Given the description of an element on the screen output the (x, y) to click on. 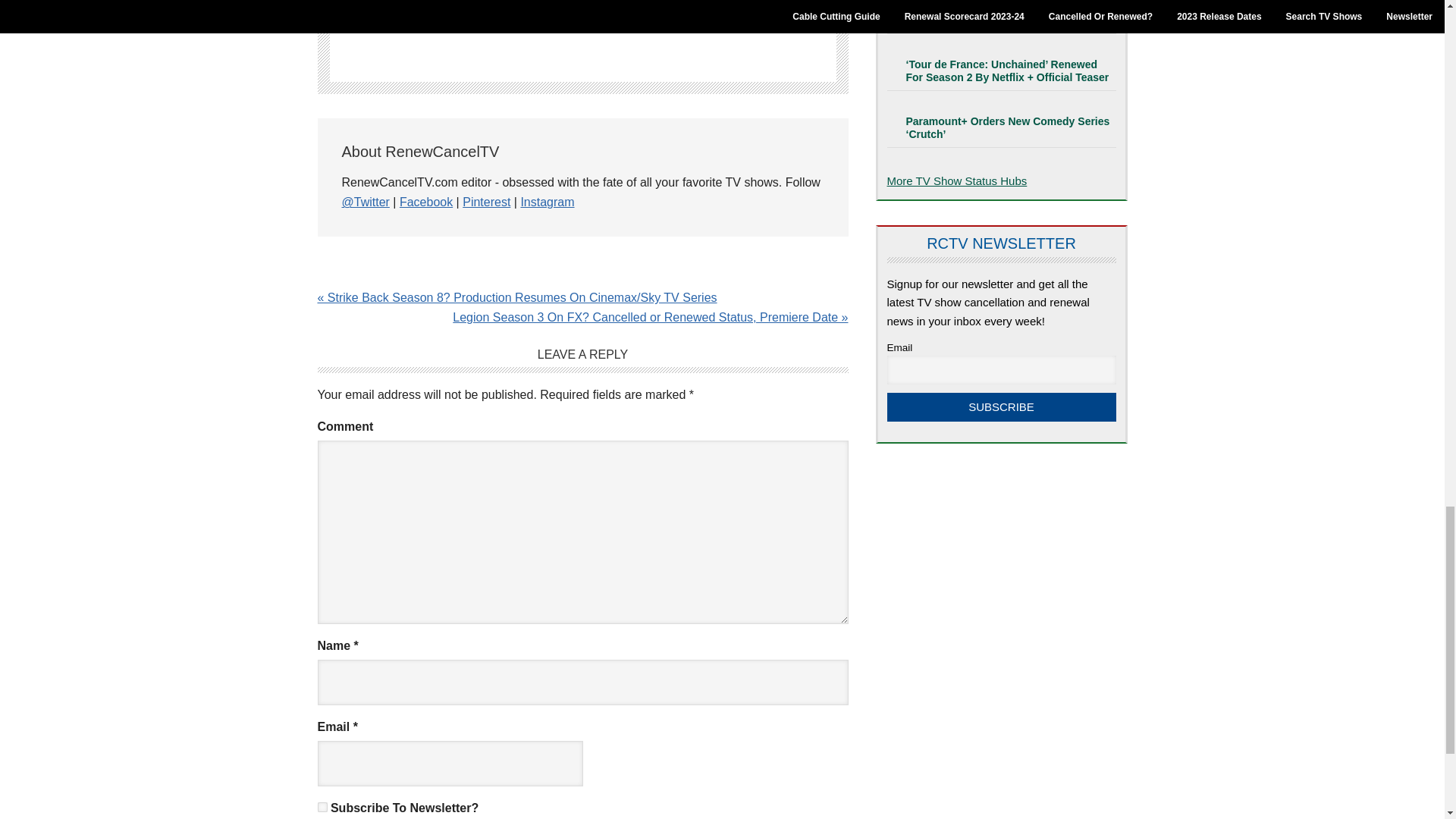
Subscribe (1001, 407)
1 (321, 807)
Cancelled Or Renewed? (956, 180)
